Given the description of an element on the screen output the (x, y) to click on. 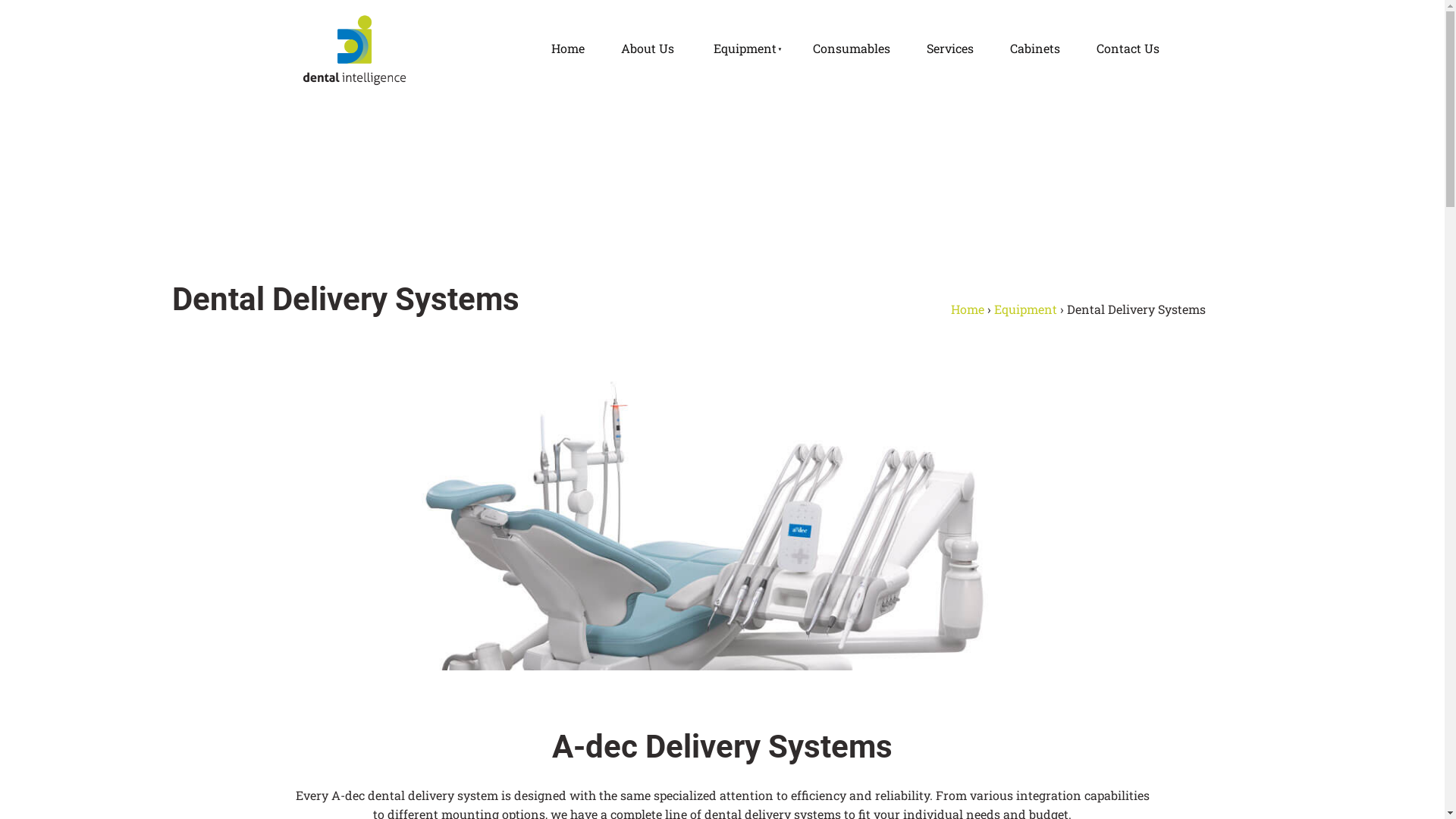
About Us Element type: text (646, 49)
Equipment Element type: text (742, 49)
Services Element type: text (949, 49)
Contact Us Element type: text (1127, 49)
Consumables Element type: text (851, 49)
Cabinets Element type: text (1034, 49)
Home Element type: text (567, 49)
Home Element type: text (967, 308)
Equipment Element type: text (1025, 308)
